Given the description of an element on the screen output the (x, y) to click on. 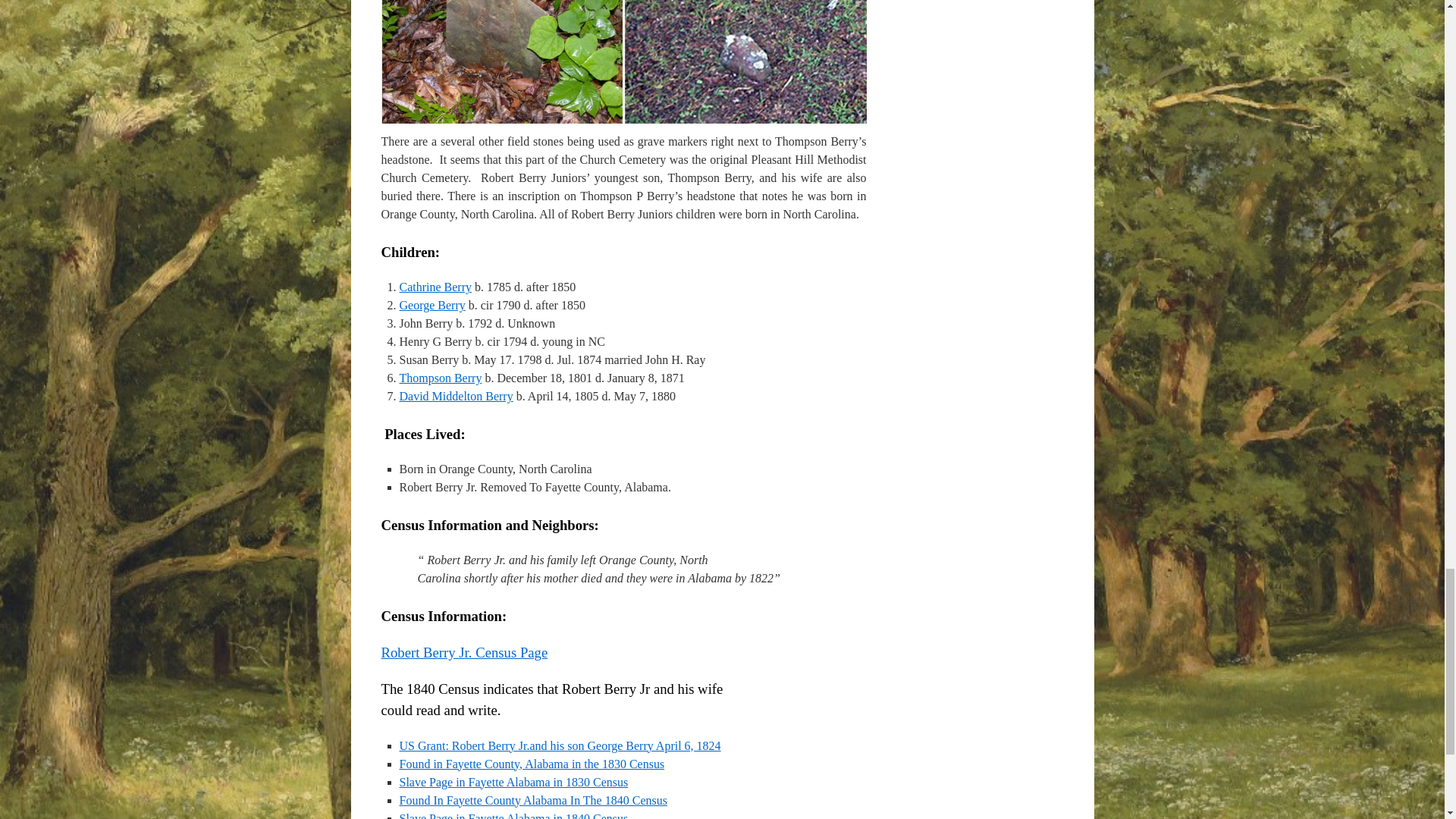
George Berry (431, 305)
Found in Fayette County, Alabama in the 1830 Census (530, 763)
Catherine Berry Nc (434, 286)
Land Grant to Robert Berry Jr. by President Monroe (559, 745)
Cathrine Berry (434, 286)
Found In Fayette County Alabama In The 1840 Census (532, 799)
Slave Page in Fayette Alabama in 1830 Census (512, 781)
Thompson Berry (439, 377)
David Middelton Berry (455, 395)
Slave Page in Fayette Alabama in 1840 Census (512, 815)
Robert Berry Jr. Census Page (463, 652)
